Given the description of an element on the screen output the (x, y) to click on. 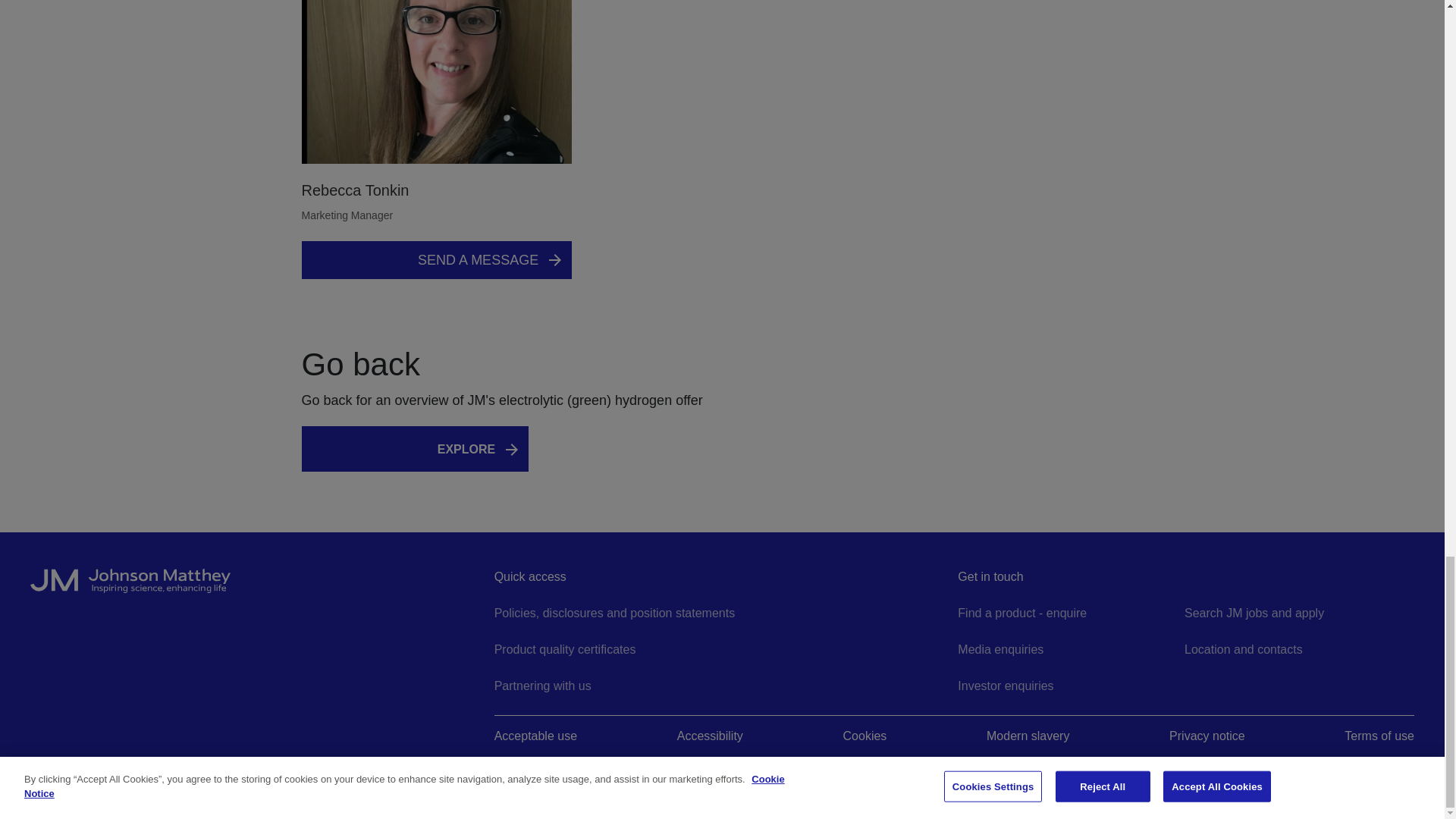
Explore (483, 449)
Johnson Matthey (258, 587)
SEND A MESSAGE  (436, 259)
